Given the description of an element on the screen output the (x, y) to click on. 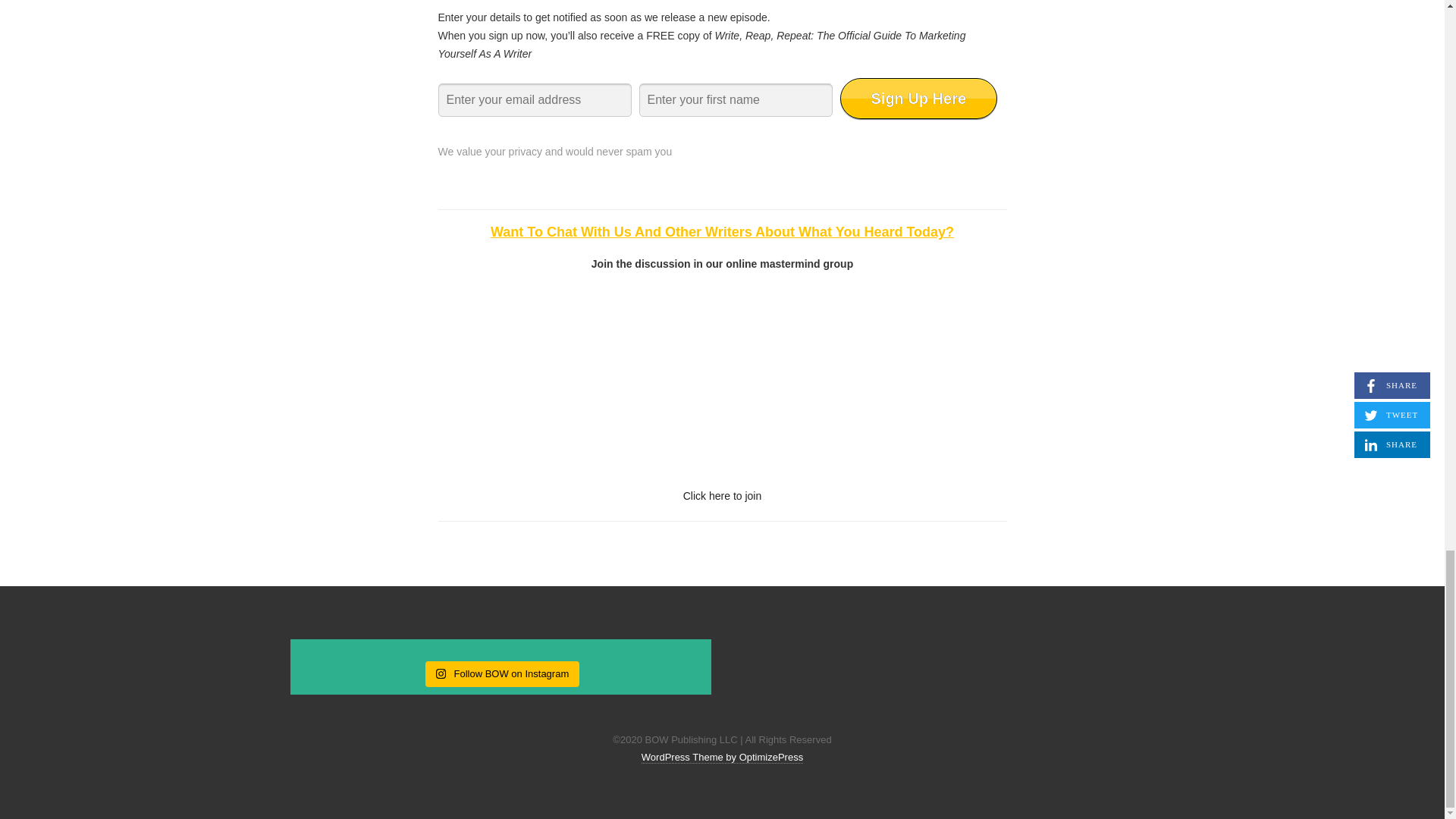
Follow BOW on Instagram (502, 673)
WordPress Theme by OptimizePress (722, 757)
Click here to join (721, 495)
Sign Up Here (918, 97)
